Given the description of an element on the screen output the (x, y) to click on. 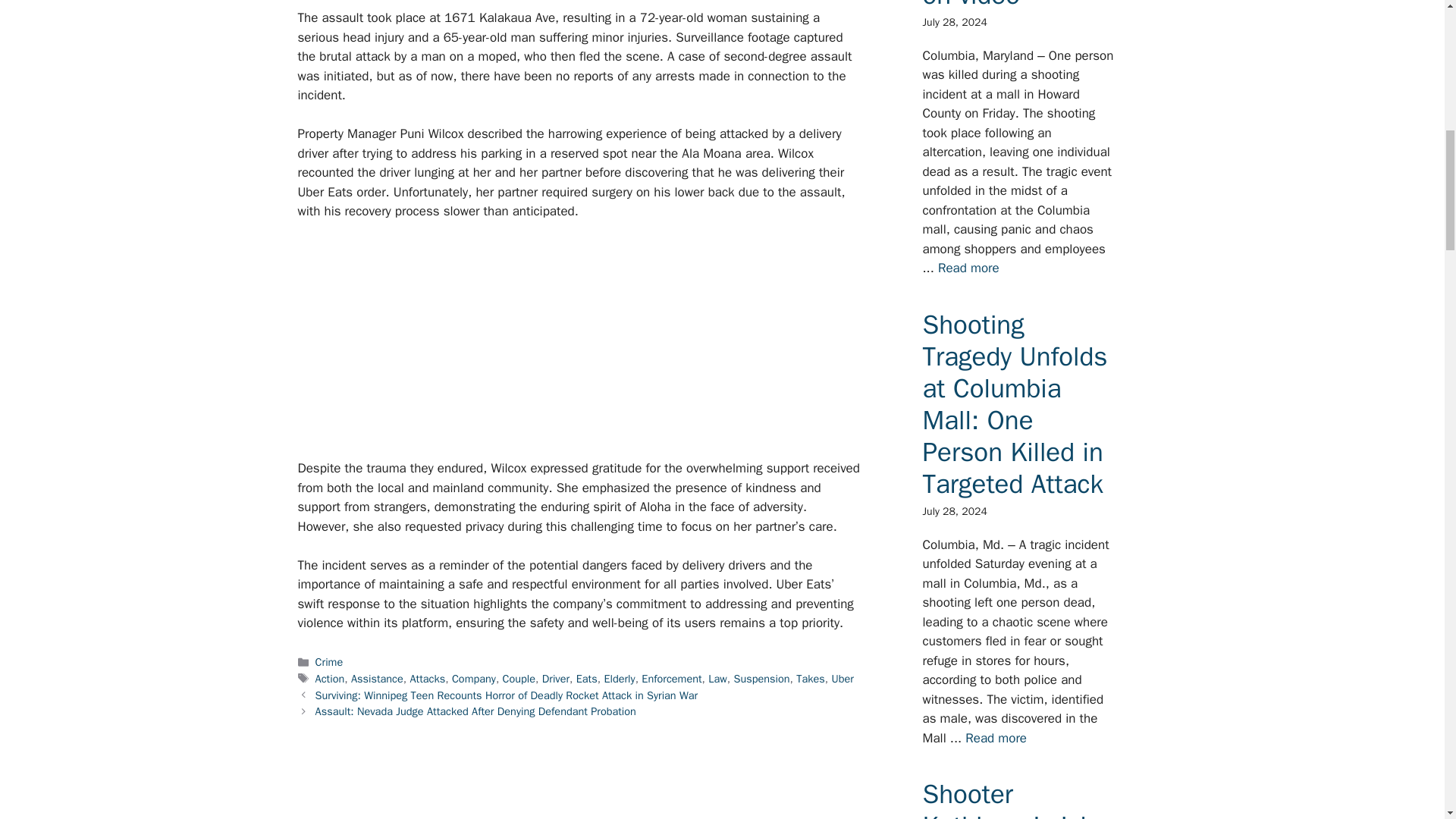
Attacks (427, 678)
Uber (842, 678)
Action (330, 678)
Company (473, 678)
Law (716, 678)
Takes (810, 678)
Crime (329, 662)
Elderly (619, 678)
Suspension (761, 678)
Couple (518, 678)
Driver (555, 678)
